Given the description of an element on the screen output the (x, y) to click on. 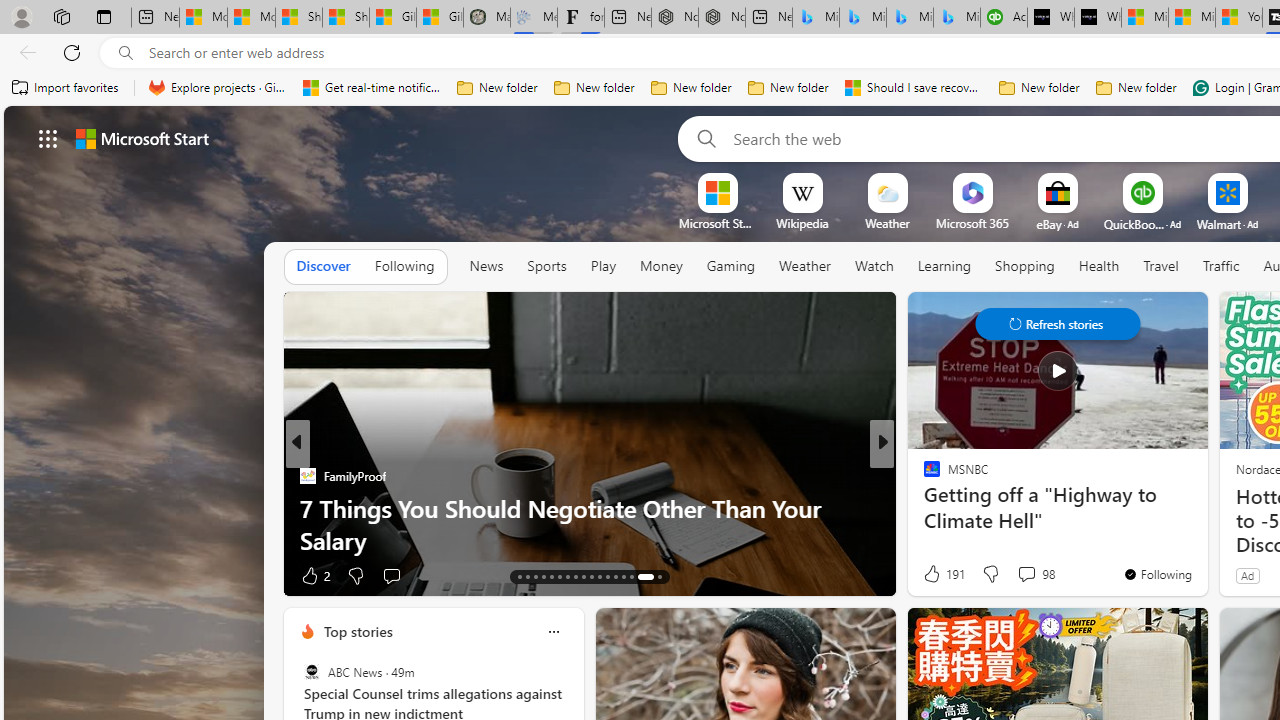
Shopping (1025, 265)
View comments 56 Comment (1019, 575)
You're following MSNBC (1157, 573)
Gaming (730, 265)
Wikipedia (802, 223)
Microsoft Bing Travel - Shangri-La Hotel Bangkok (957, 17)
AutomationID: tab-15 (535, 576)
Play (602, 265)
Money (661, 267)
AutomationID: tab-17 (550, 576)
Manatee Mortality Statistics | FWC (486, 17)
